Given the description of an element on the screen output the (x, y) to click on. 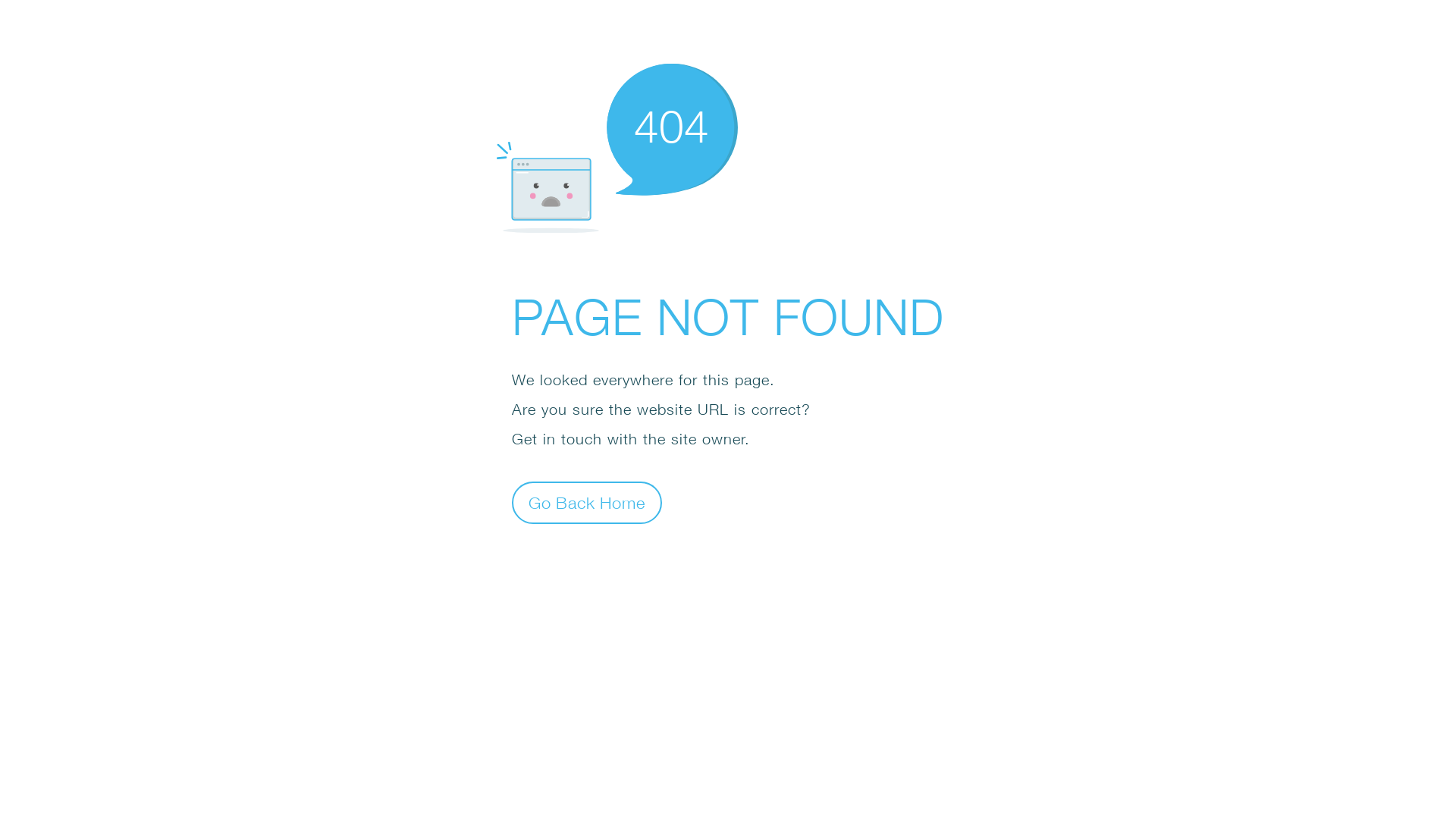
Go Back Home Element type: text (586, 502)
